Given the description of an element on the screen output the (x, y) to click on. 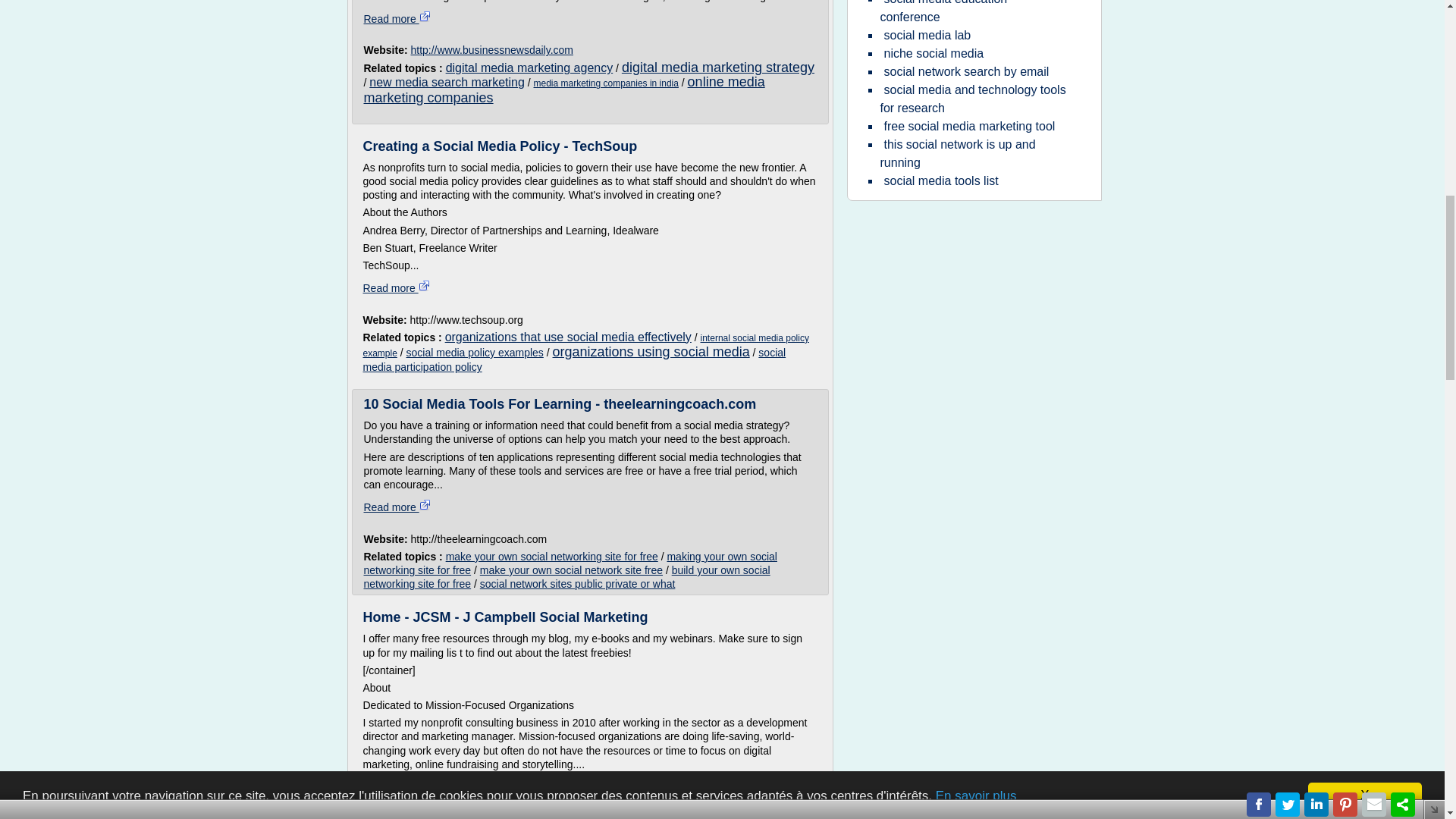
niche social media (933, 53)
social media and technology tools for research (972, 98)
this social network is up and running (957, 153)
social media lab (926, 35)
social network search by email (965, 71)
social media tools list (940, 180)
free social media marketing tool (968, 126)
social media education conference (943, 13)
